Given the description of an element on the screen output the (x, y) to click on. 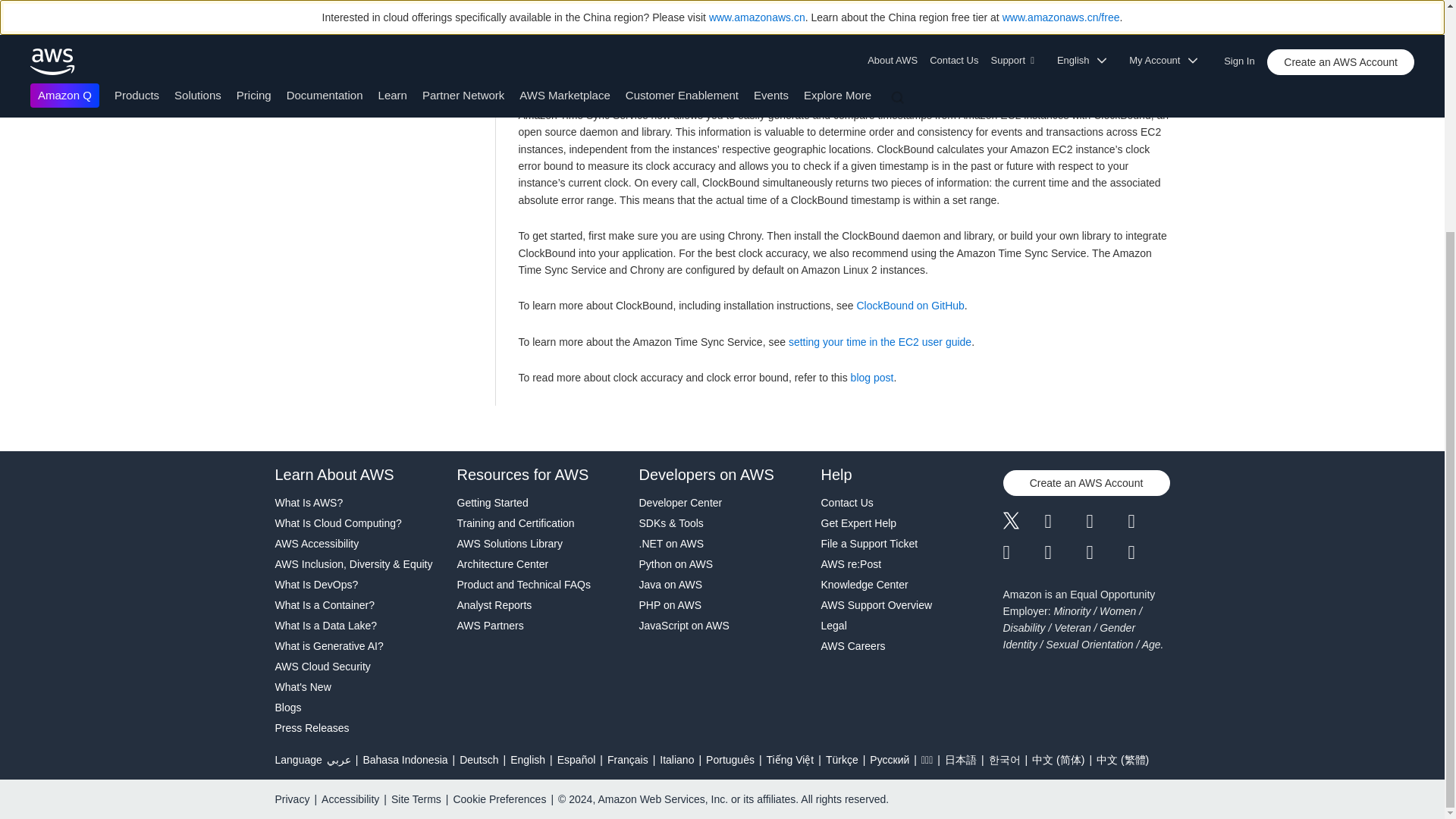
Instagram (1149, 522)
YouTube (1065, 552)
Linkedin (1106, 522)
Press Releases (358, 727)
Facebook (1065, 522)
Twitch (1023, 552)
Twitter (1023, 522)
Podcast (1106, 552)
